Given the description of an element on the screen output the (x, y) to click on. 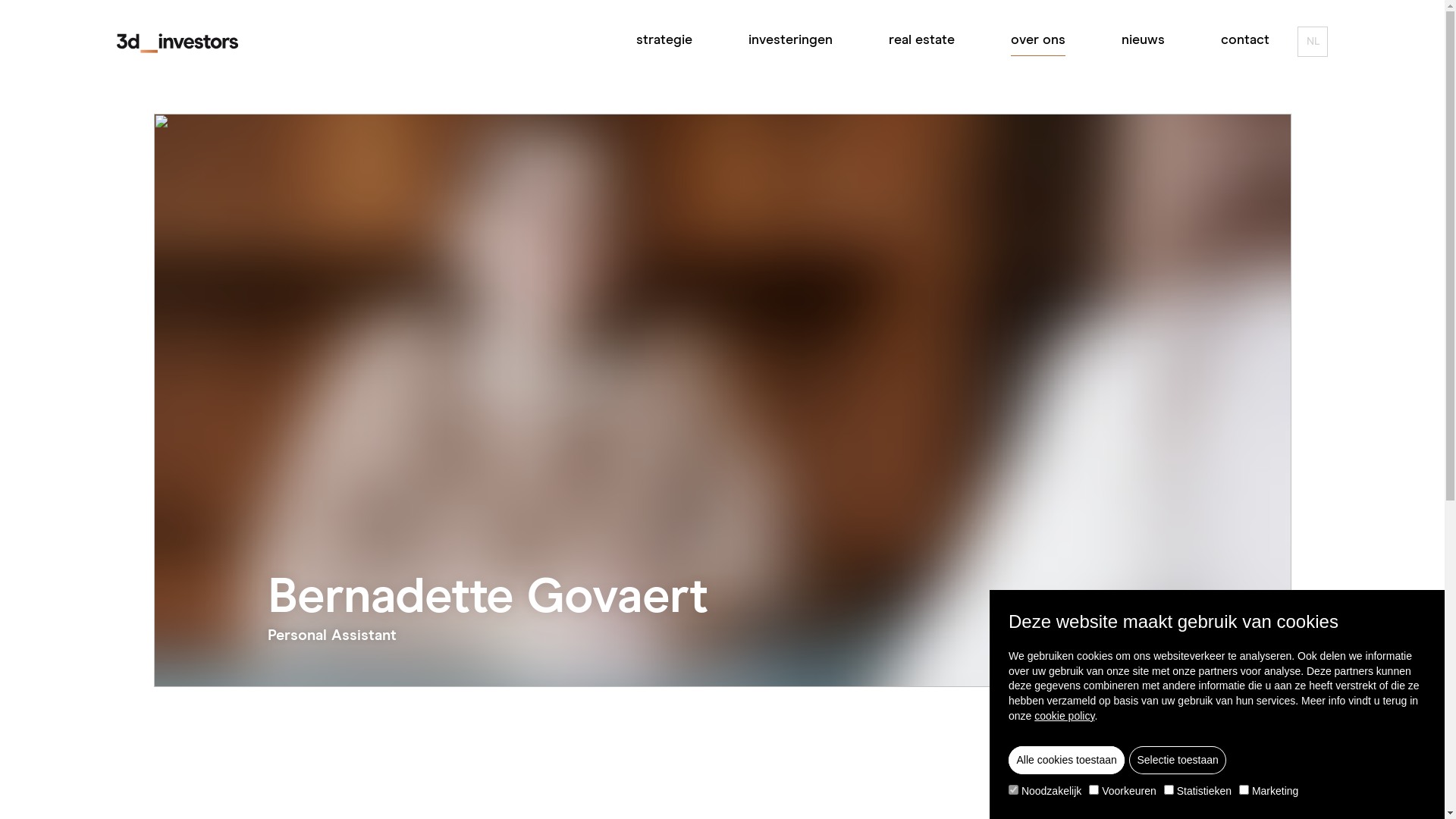
real estate Element type: text (921, 40)
Selectie toestaan Element type: text (1177, 759)
nieuws Element type: text (1142, 40)
cookie policy Element type: text (1064, 715)
contact Element type: text (1244, 40)
over ons Element type: text (1037, 40)
Alle cookies toestaan Element type: text (1066, 759)
strategie Element type: text (664, 40)
investeringen Element type: text (790, 40)
